Given the description of an element on the screen output the (x, y) to click on. 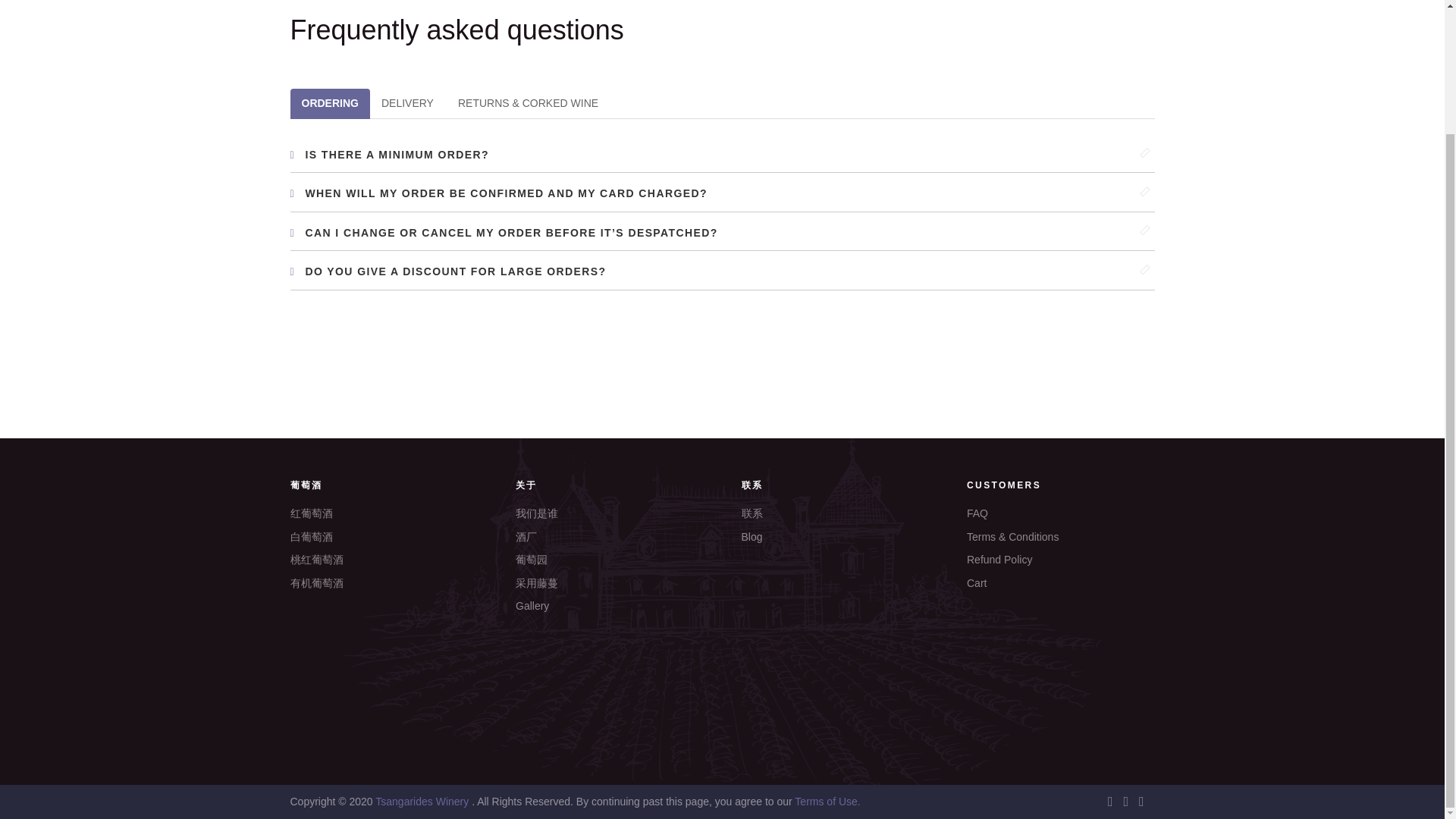
WHEN WILL MY ORDER BE CONFIRMED AND MY CARD CHARGED? (721, 193)
IS THERE A MINIMUM ORDER? (721, 154)
DELIVERY (407, 103)
DO YOU GIVE A DISCOUNT FOR LARGE ORDERS? (721, 271)
ORDERING (329, 103)
